Given the description of an element on the screen output the (x, y) to click on. 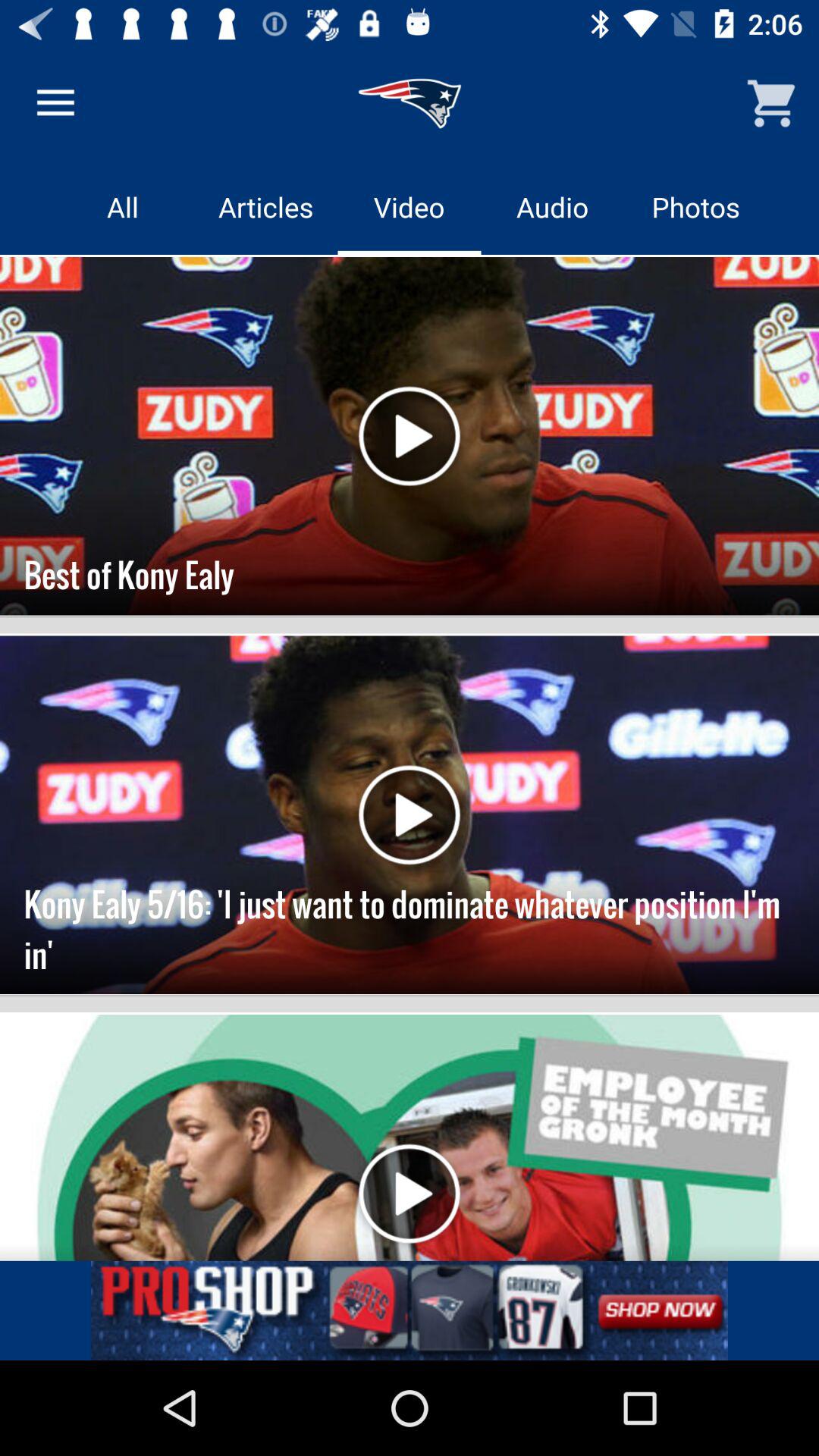
shopping the product (409, 1310)
